Given the description of an element on the screen output the (x, y) to click on. 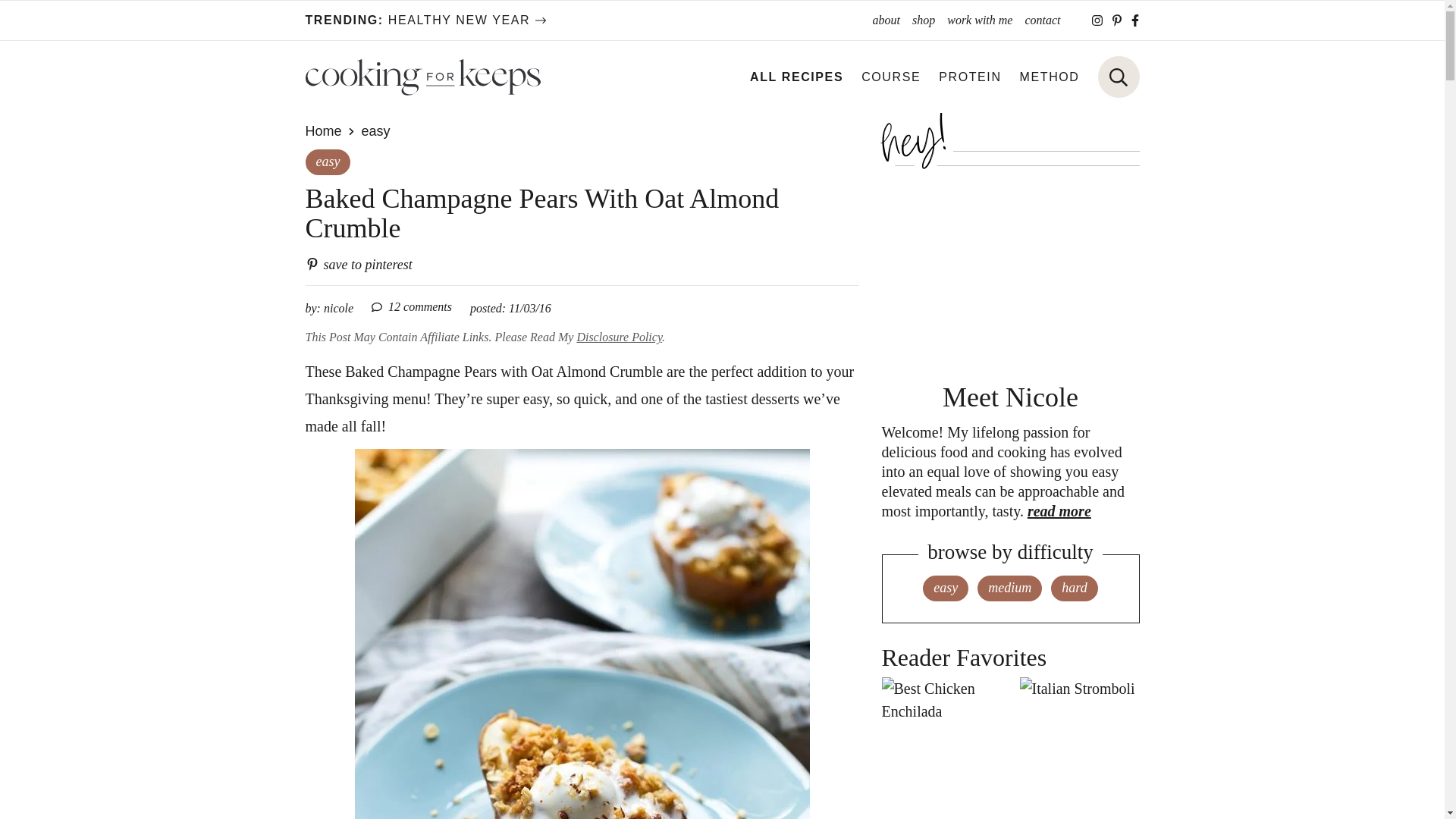
ALL RECIPES (796, 76)
contact (1041, 20)
shop (425, 20)
about (922, 20)
COURSE (885, 20)
Cooking for Keeps (890, 76)
Save to Pinterest (422, 76)
PROTEIN (358, 264)
METHOD (970, 76)
work with me (1050, 76)
